Given the description of an element on the screen output the (x, y) to click on. 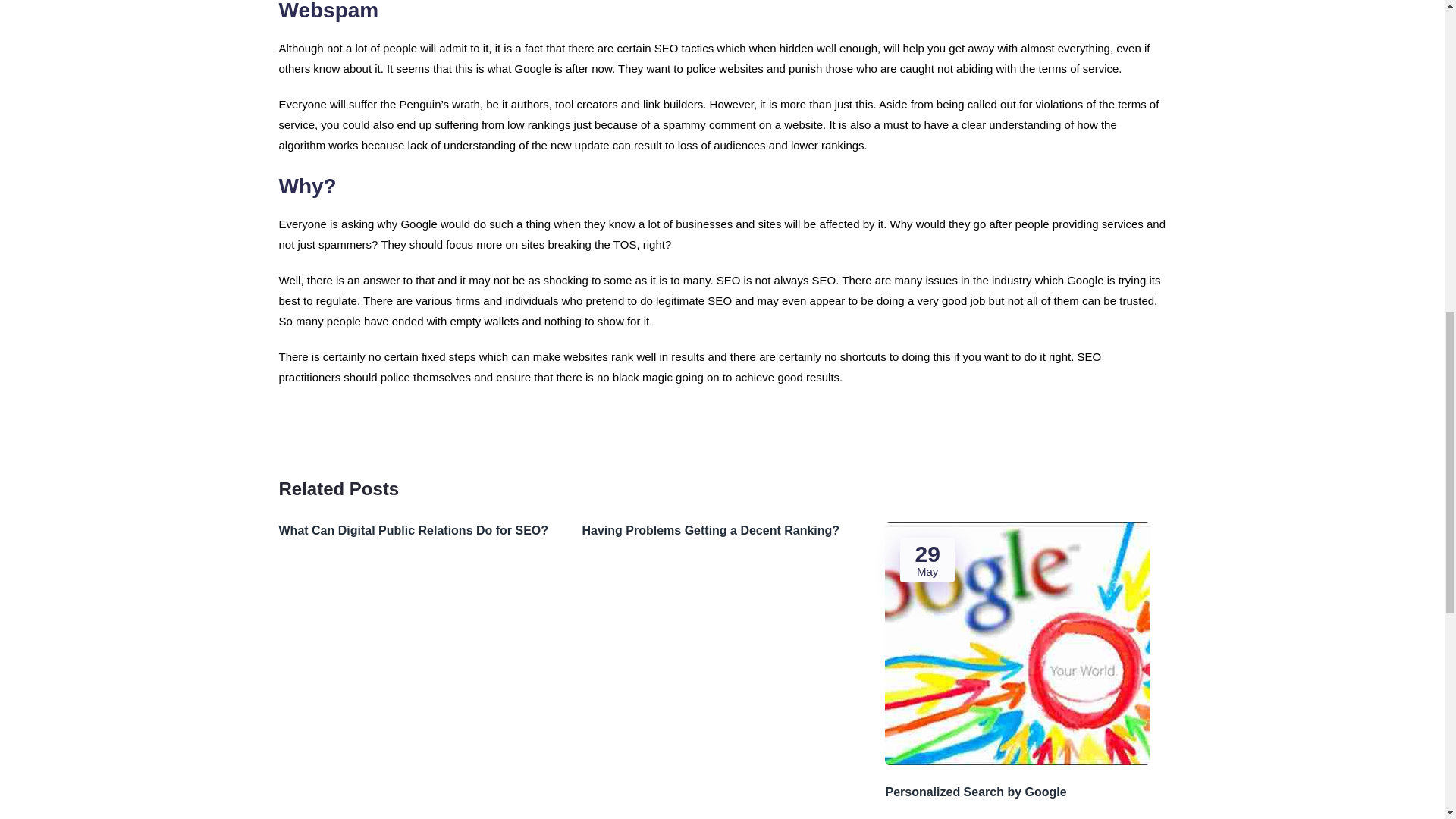
Having Problems Getting a Decent Ranking? (720, 530)
What Can Digital Public Relations Do for SEO? (419, 530)
Personalized Search by Google (1025, 791)
What Can Digital Public Relations Do for SEO? (419, 530)
Personalized Search by Google (1025, 791)
Having Problems Getting a Decent Ranking? (720, 530)
